Given the description of an element on the screen output the (x, y) to click on. 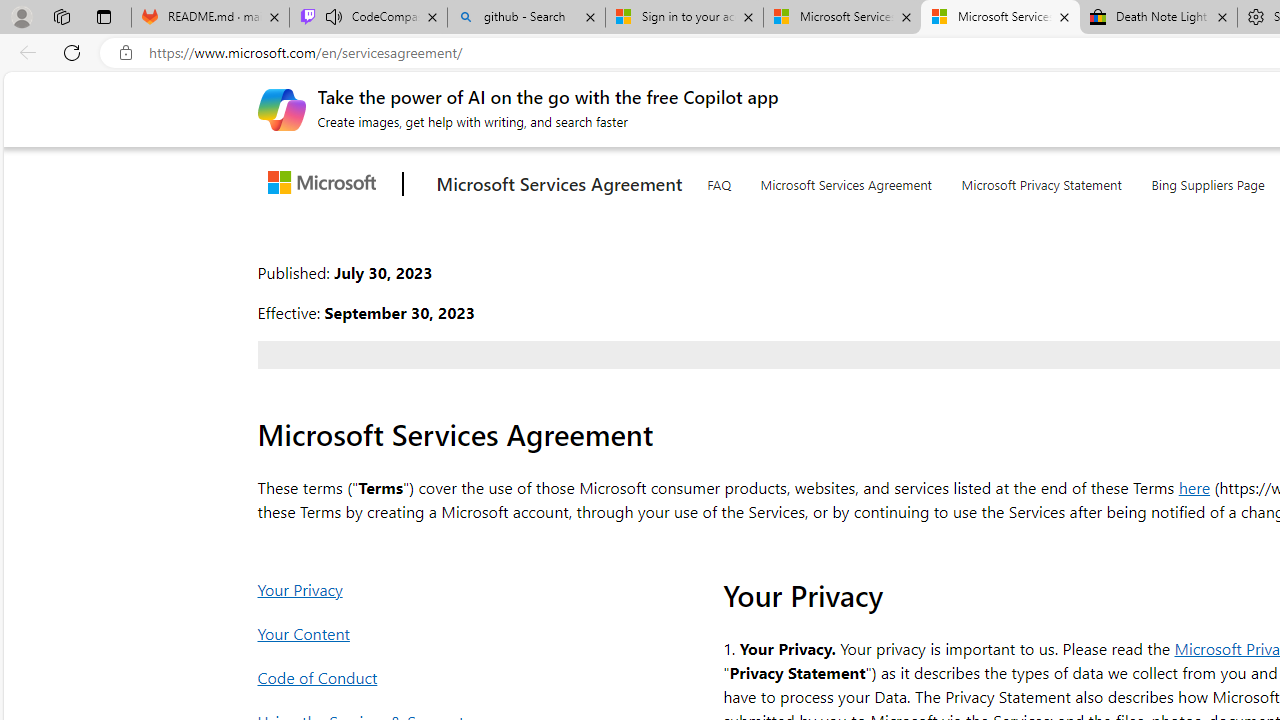
Code of Conduct (448, 677)
Your Content (448, 632)
FAQ (718, 181)
Microsoft Privacy Statement (1041, 181)
Create images, get help with writing, and search faster (281, 108)
Microsoft Privacy Statement (1041, 180)
Mute tab (333, 16)
